Given the description of an element on the screen output the (x, y) to click on. 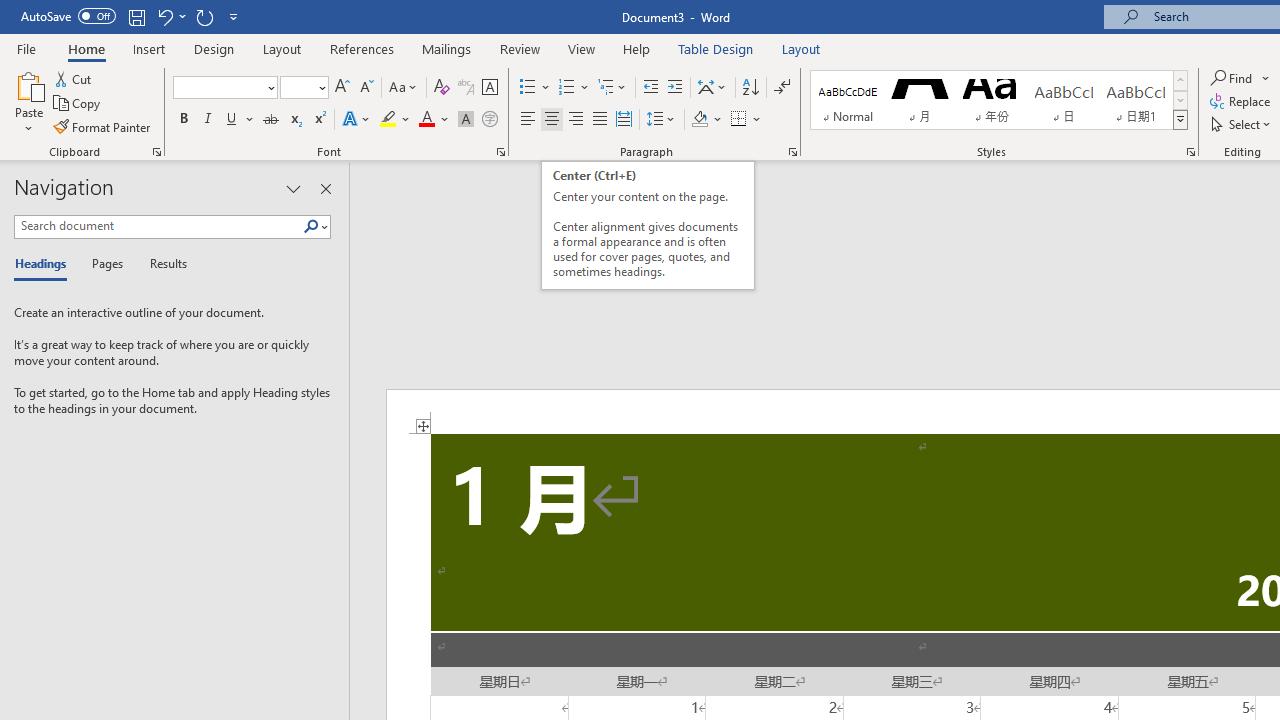
Line and Paragraph Spacing (661, 119)
Clear Formatting (442, 87)
Paragraph... (792, 151)
Strikethrough (270, 119)
Headings (45, 264)
Decrease Indent (650, 87)
Pages (105, 264)
Superscript (319, 119)
Font Color (434, 119)
